Given the description of an element on the screen output the (x, y) to click on. 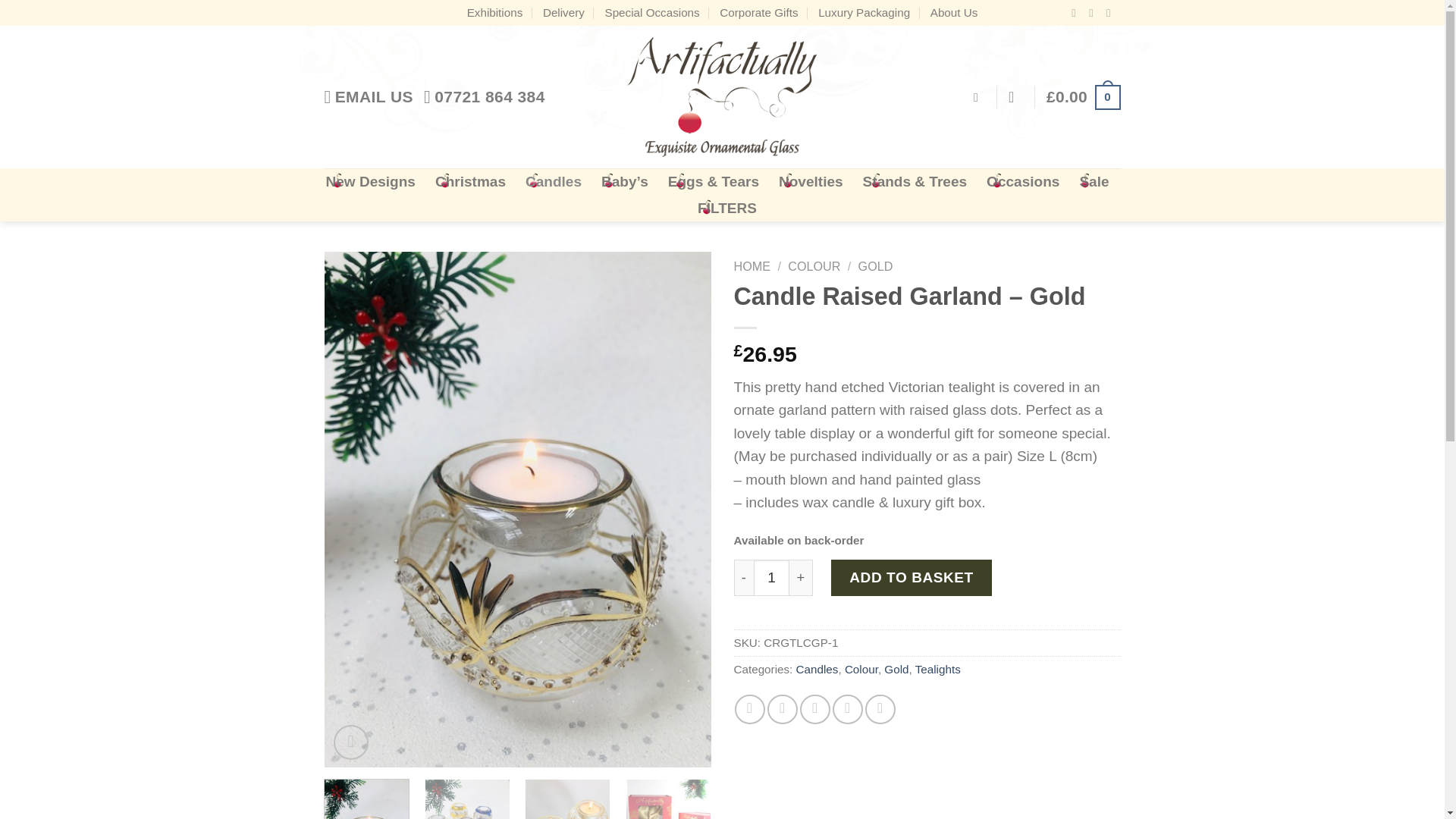
Basket (1083, 97)
EMAIL US (368, 97)
About Us (954, 12)
Delivery (564, 12)
Special Occasions (651, 12)
07721 864 384 (483, 97)
Christmas (470, 181)
New Designs (369, 181)
1 (772, 577)
Novelties (810, 181)
Luxury Packaging (864, 12)
Artifactually - Excuisite Ornamental Glass (722, 96)
Qty (772, 577)
Candles (552, 181)
Corporate Gifts (758, 12)
